Given the description of an element on the screen output the (x, y) to click on. 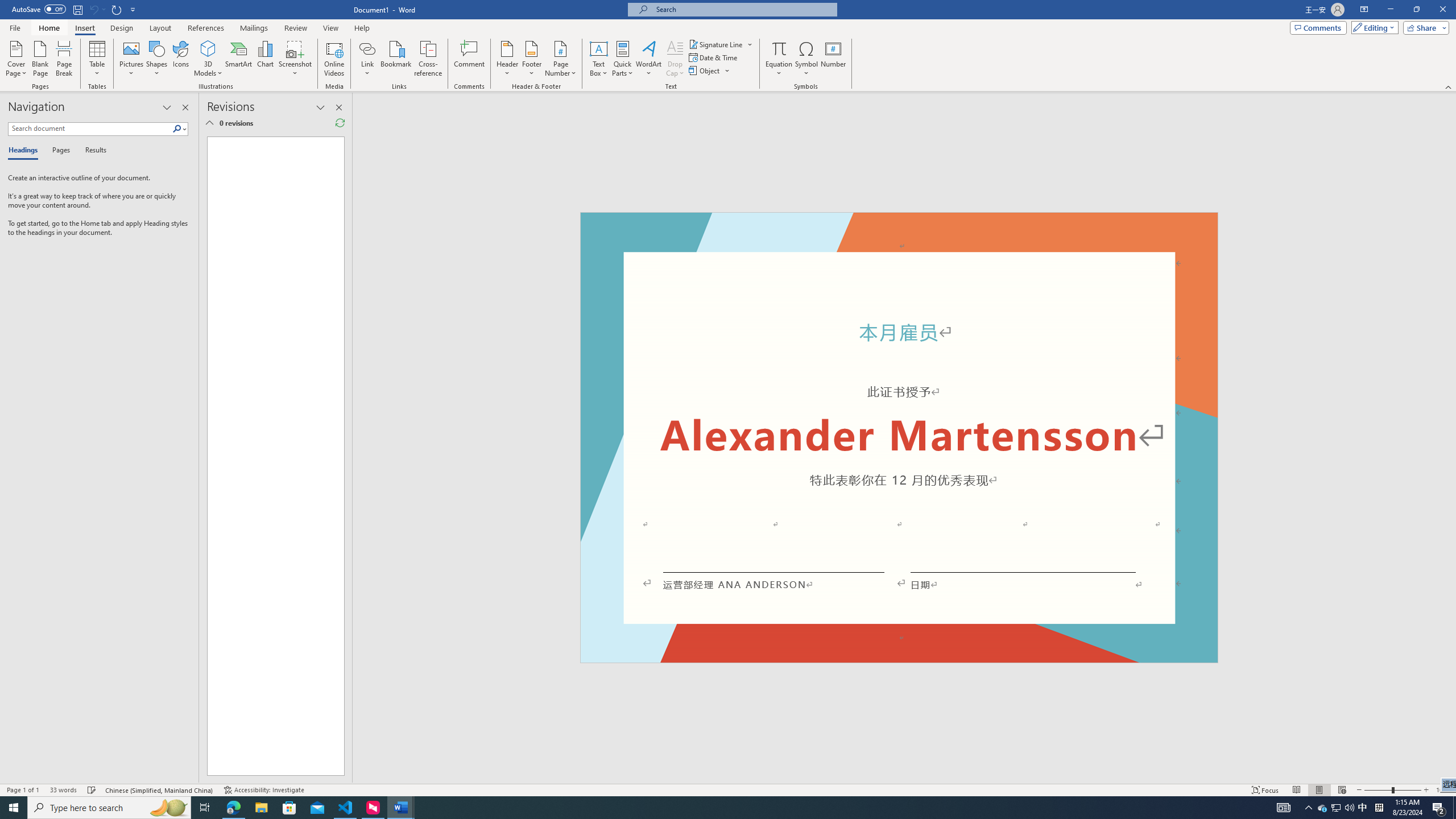
WordArt (648, 58)
Spelling and Grammar Check Checking (91, 790)
Screenshot (295, 58)
Page Number (560, 58)
Cross-reference... (428, 58)
